Given the description of an element on the screen output the (x, y) to click on. 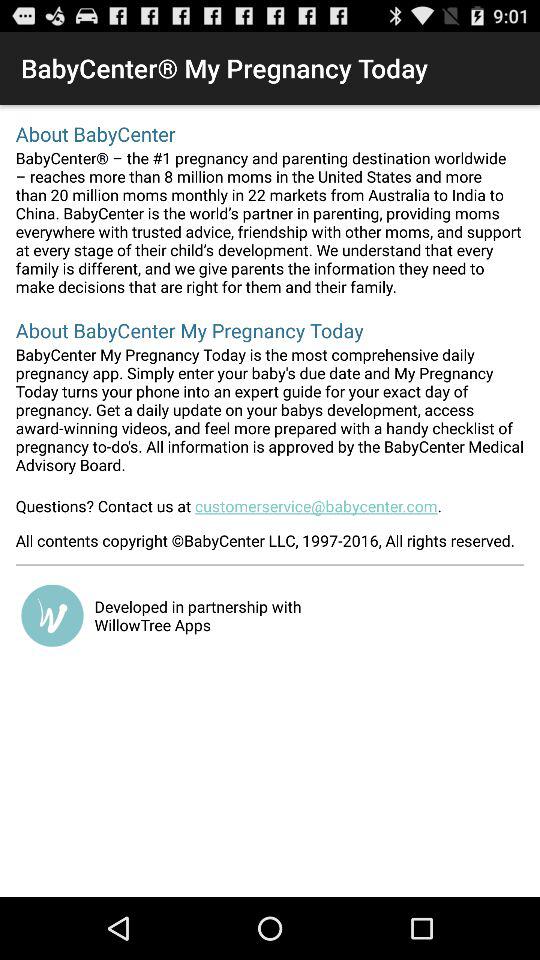
press the questions contact us app (269, 512)
